Given the description of an element on the screen output the (x, y) to click on. 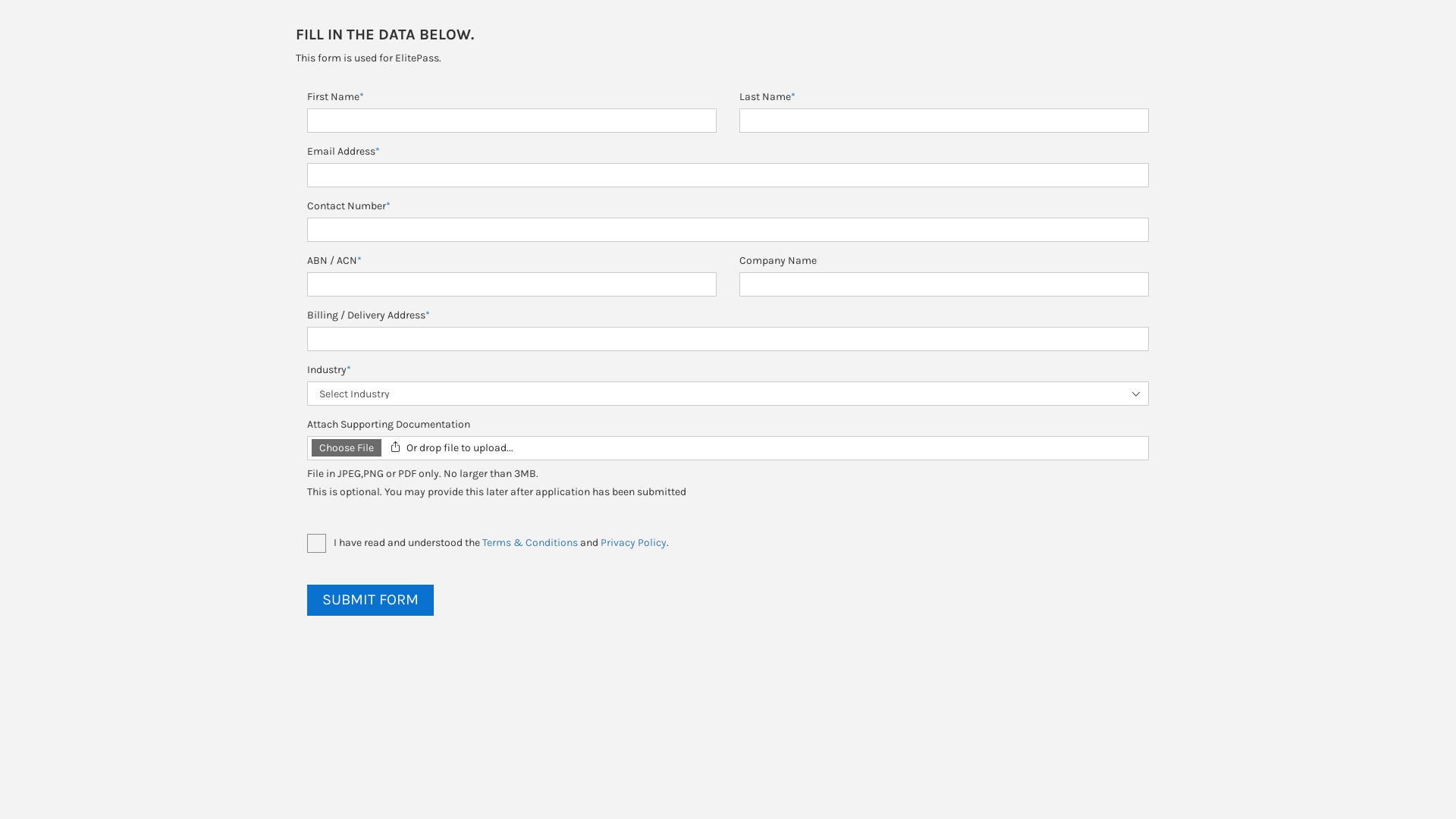
Submit Form Element type: text (370, 599)
Privacy Policy Element type: text (633, 542)
Terms & Conditions Element type: text (529, 542)
